Given the description of an element on the screen output the (x, y) to click on. 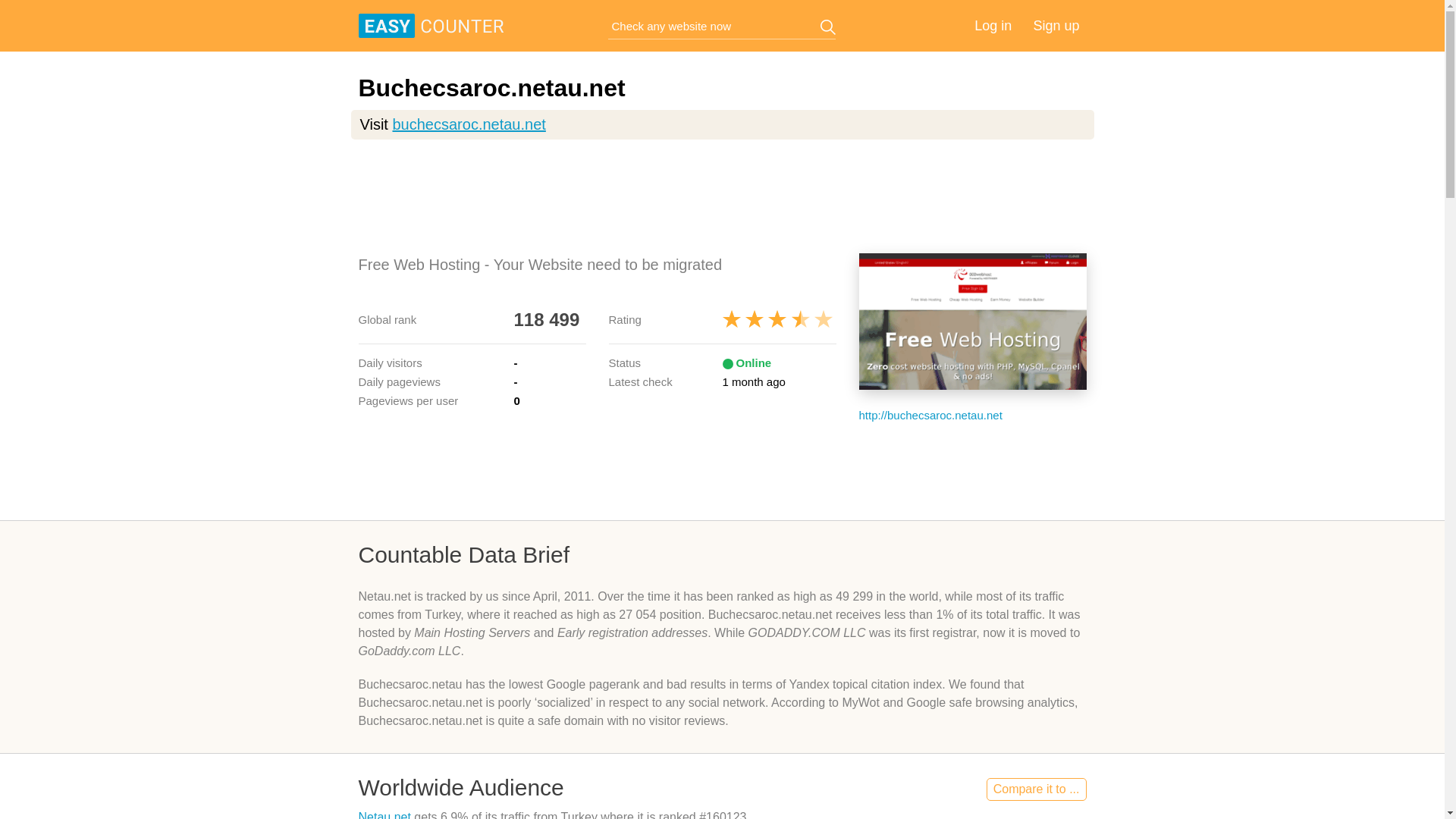
Netau.net (384, 814)
Log in (992, 25)
Compare it to ... (1036, 789)
buchecsaroc.netau.net (467, 124)
3rd party ad content (725, 470)
Sign up (1056, 25)
3rd party ad content (726, 196)
Buchecsaroc.netau.net thumbnail (972, 321)
